Given the description of an element on the screen output the (x, y) to click on. 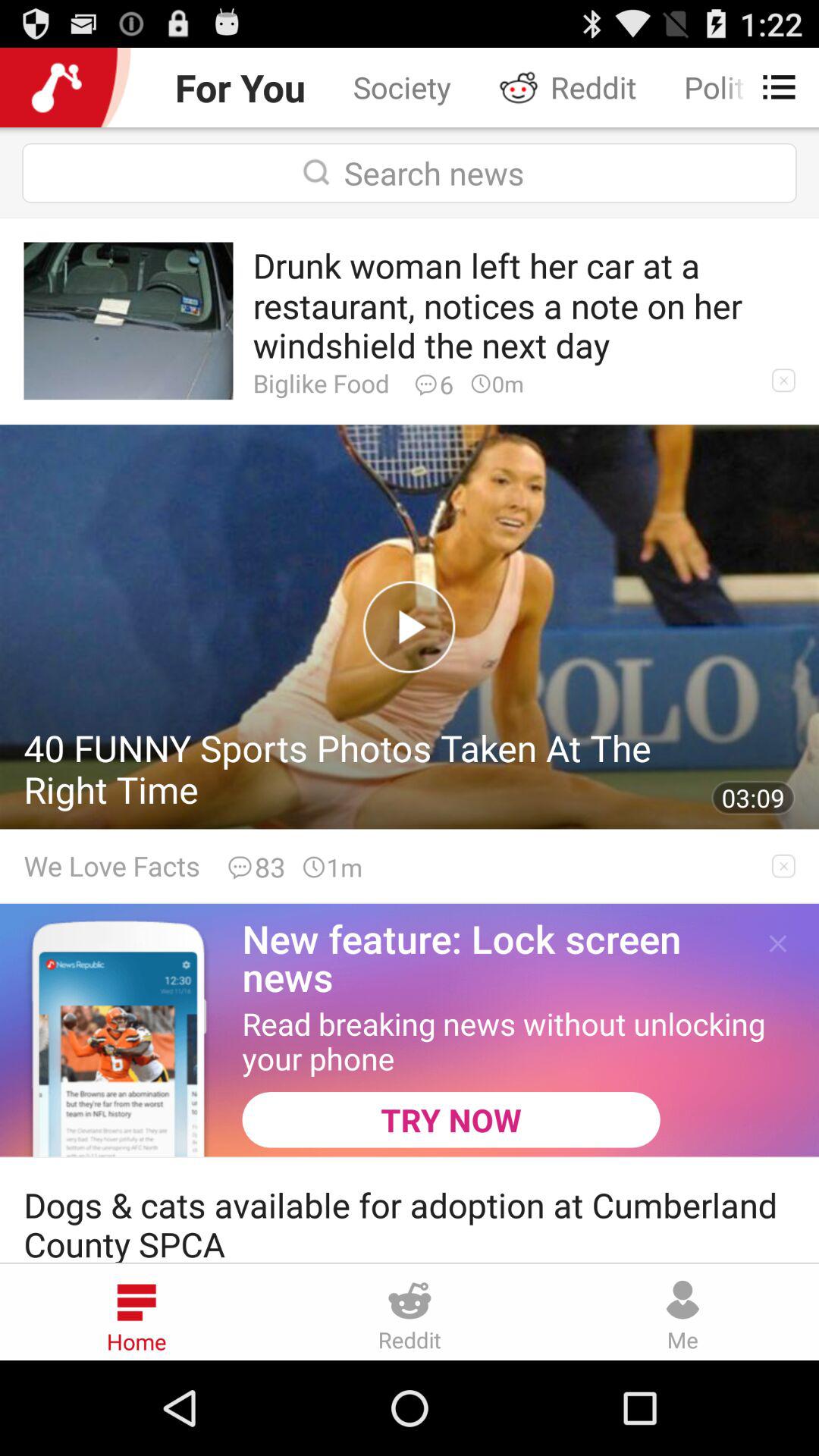
press society icon (401, 87)
